Given the description of an element on the screen output the (x, y) to click on. 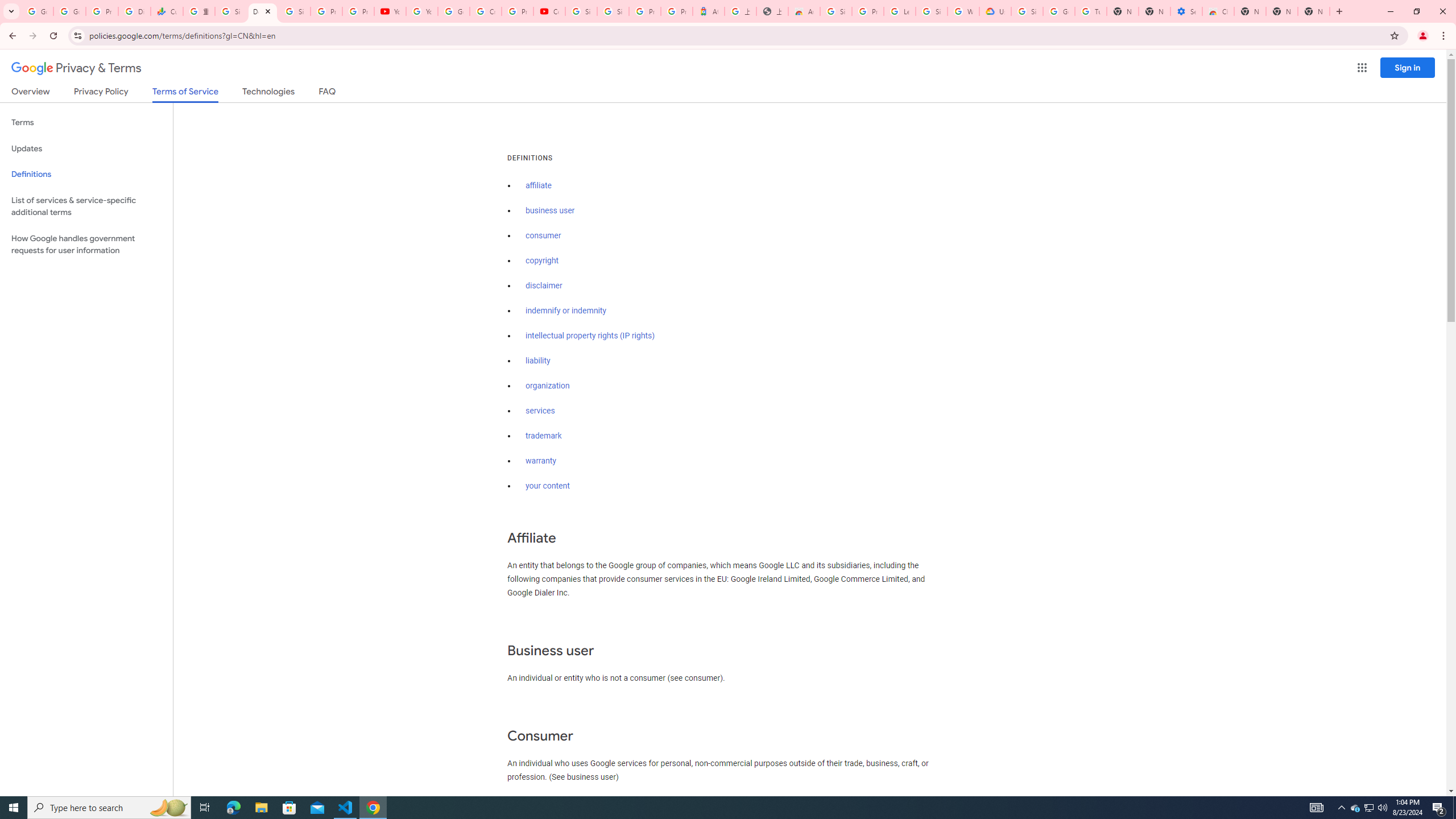
Sign in - Google Accounts (613, 11)
consumer (543, 235)
Sign in - Google Accounts (581, 11)
Google Workspace Admin Community (37, 11)
organization (547, 385)
Turn cookies on or off - Computer - Google Account Help (1091, 11)
Sign in - Google Accounts (1027, 11)
